Given the description of an element on the screen output the (x, y) to click on. 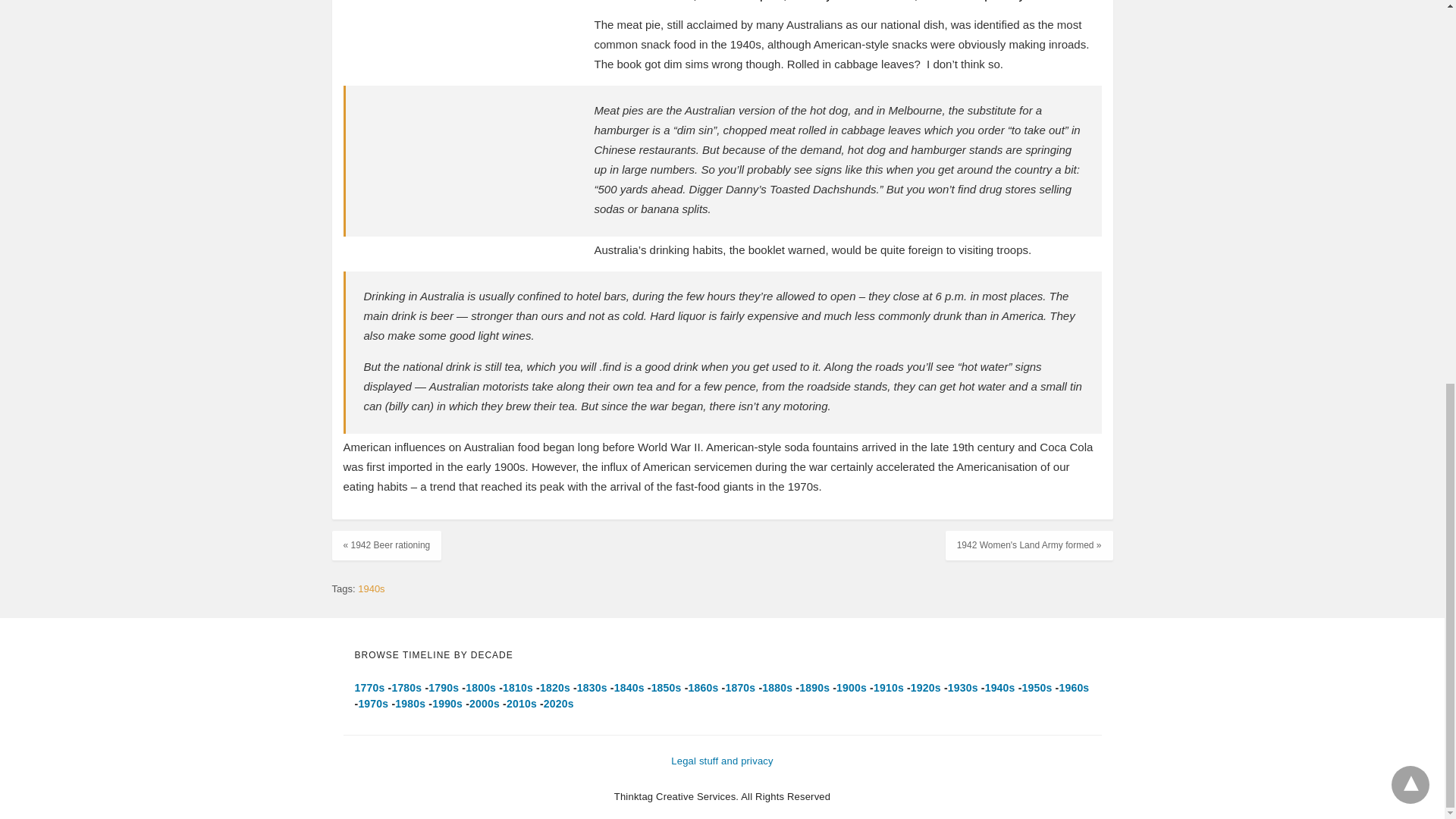
1800s (480, 687)
1940s (371, 588)
1930s (962, 687)
1830s (591, 687)
1910s (888, 687)
1850s (665, 687)
1810s (517, 687)
1940s (999, 687)
1890s (814, 687)
1780s (406, 687)
Legal stuff and privacy (722, 760)
1900s (850, 687)
2010s (521, 703)
1870s (740, 687)
1920s (925, 687)
